Given the description of an element on the screen output the (x, y) to click on. 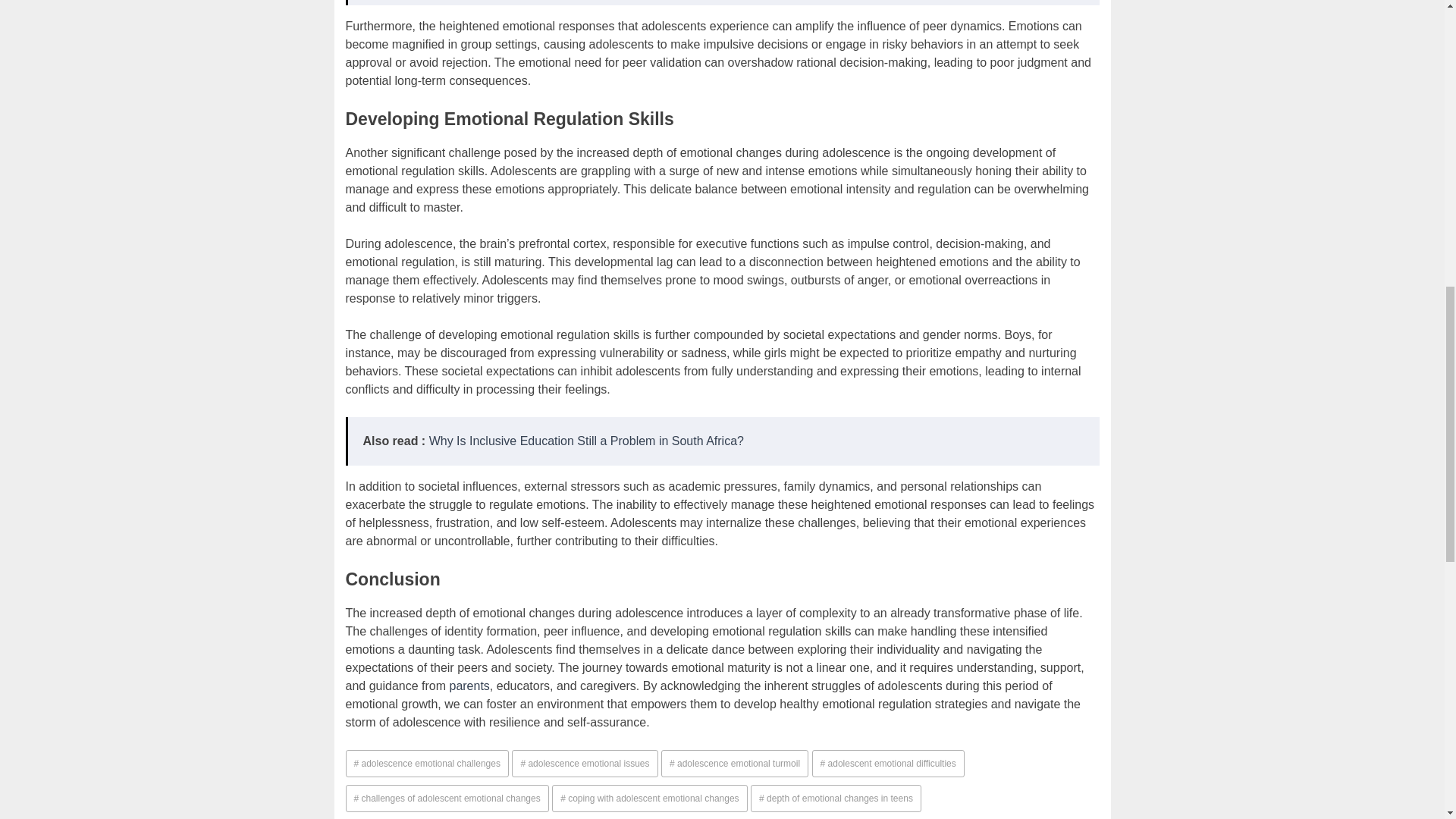
parents (468, 685)
Why Is Inclusive Education Still a Problem in South Africa? (586, 440)
